Given the description of an element on the screen output the (x, y) to click on. 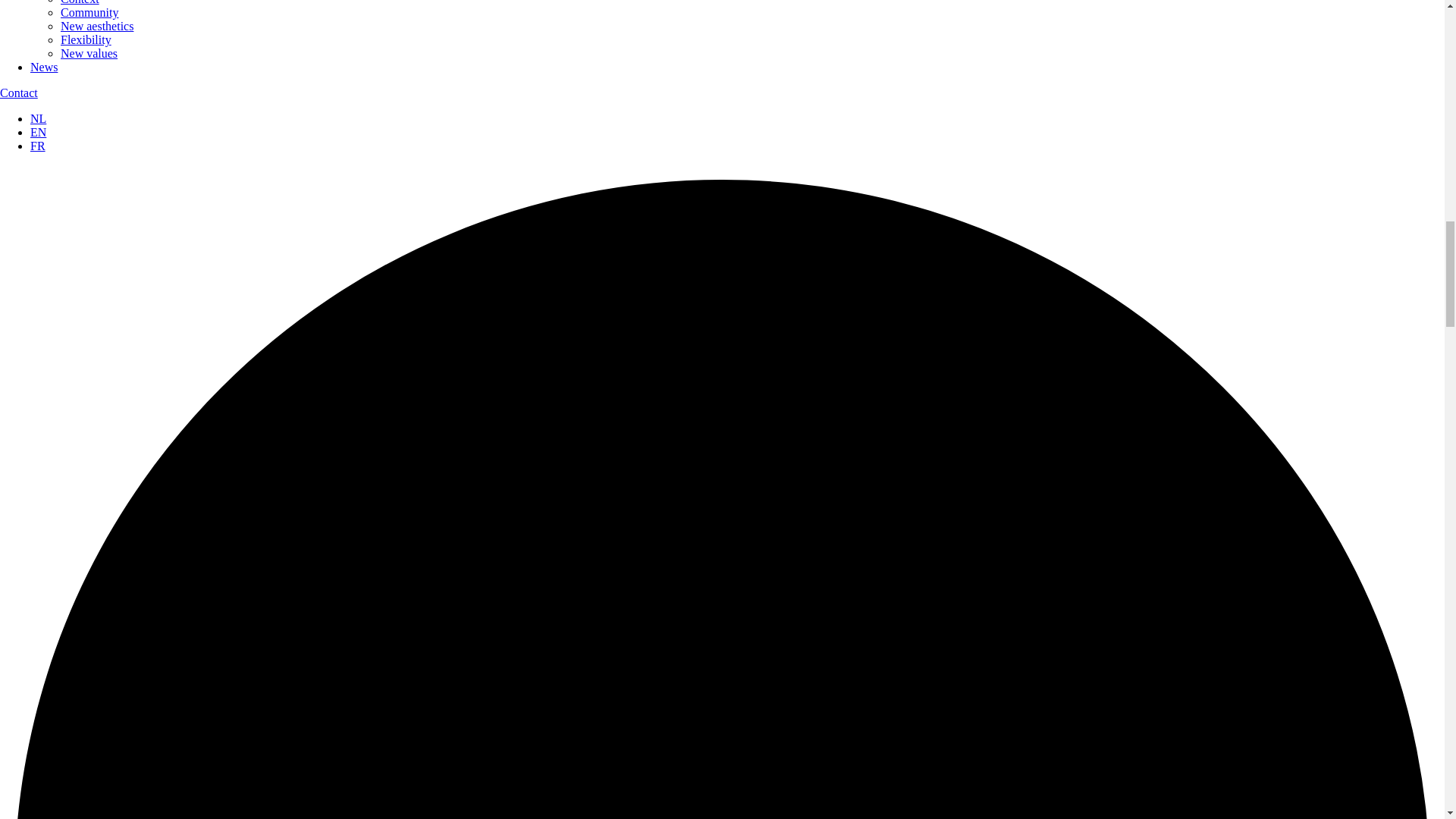
Context (80, 2)
Contact (18, 92)
NL (38, 118)
FR (37, 145)
New values (89, 52)
Community (89, 11)
NL (38, 118)
New aesthetics (97, 25)
EN (38, 132)
News (44, 66)
